Given the description of an element on the screen output the (x, y) to click on. 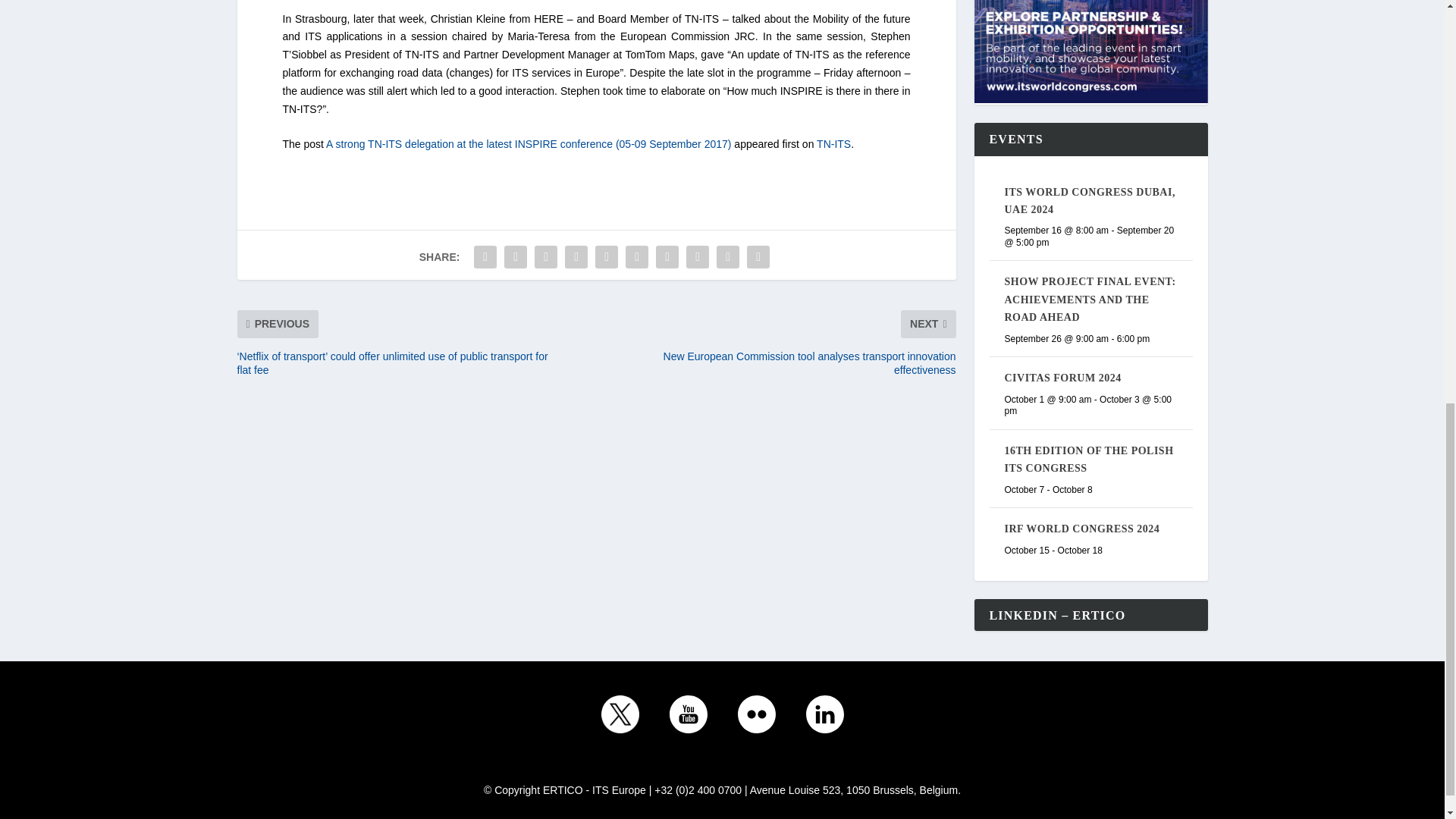
ITS WORLD CONGRESS DUBAI, UAE 2024 (1089, 200)
TN-ITS (833, 143)
SHOW PROJECT FINAL EVENT: ACHIEVEMENTS AND THE ROAD AHEAD (1089, 299)
CIVITAS FORUM 2024 (1062, 378)
